Given the description of an element on the screen output the (x, y) to click on. 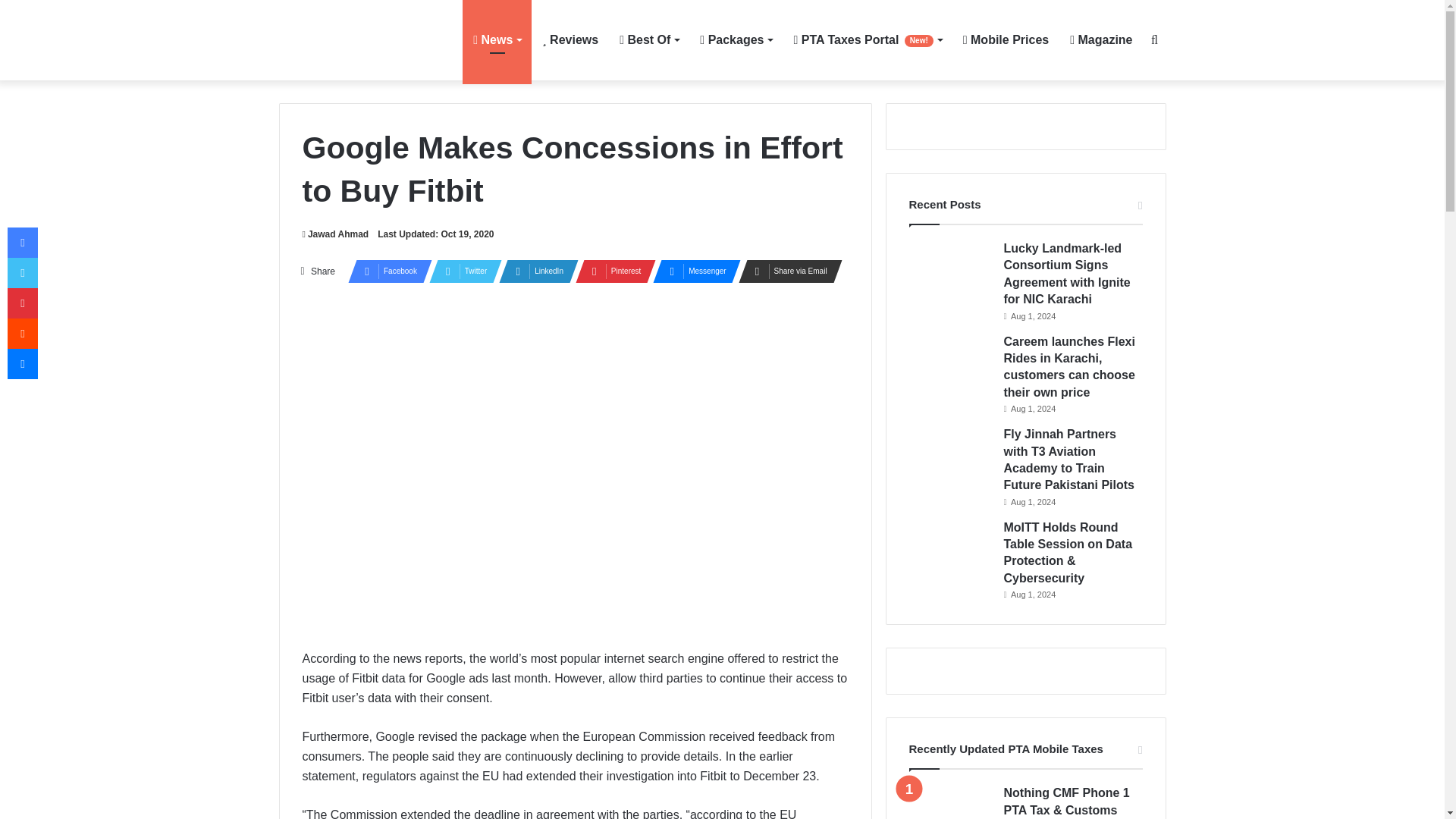
Jawad Ahmad (334, 234)
Twitter (461, 271)
Facebook (385, 271)
Messenger (692, 271)
Reviews (569, 40)
Magazine (1100, 40)
Pinterest (610, 271)
PTA Taxes Portal New! (867, 40)
Packages (735, 40)
Best Of (648, 40)
